Given the description of an element on the screen output the (x, y) to click on. 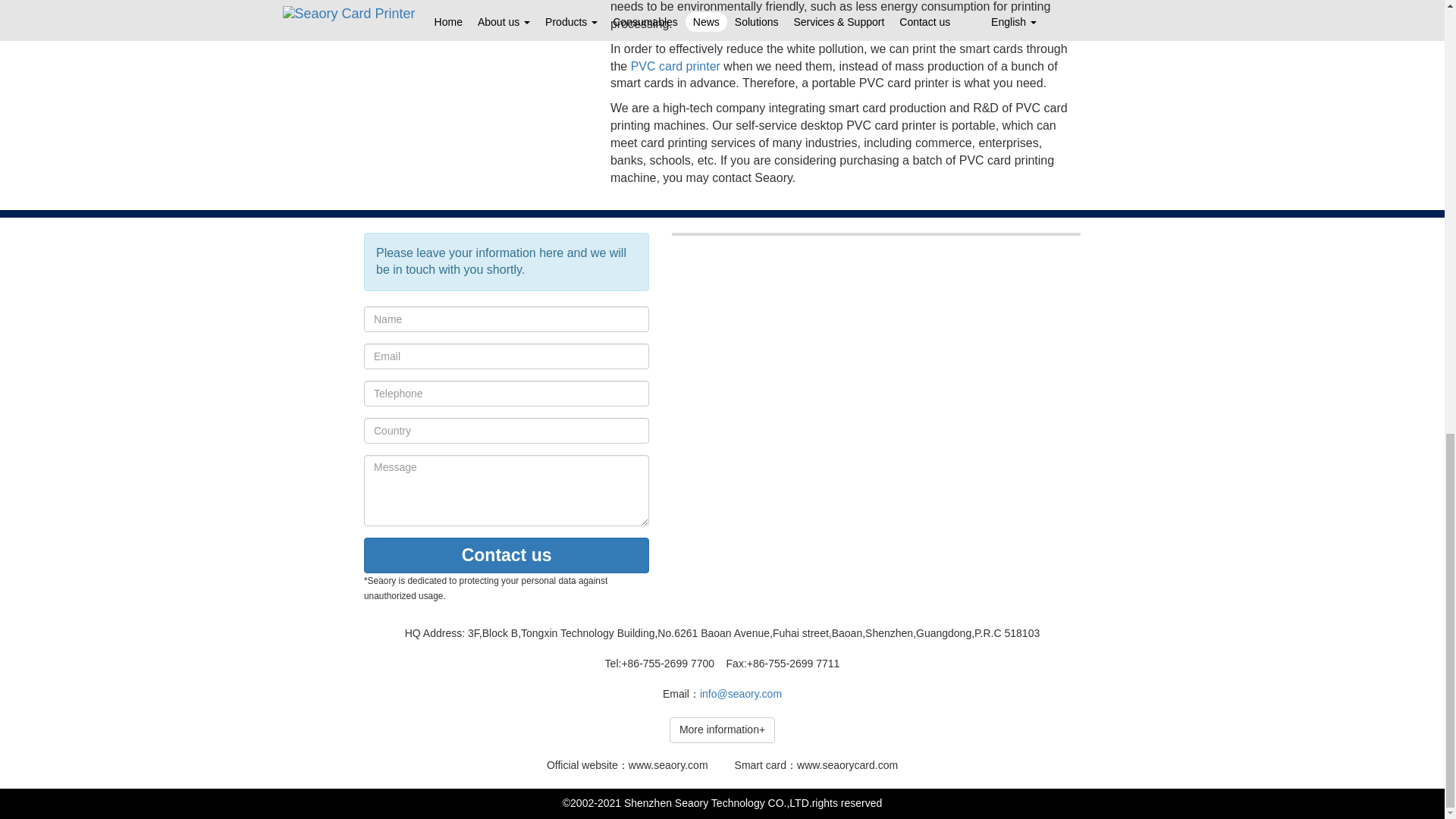
PVC card printer (675, 65)
